Given the description of an element on the screen output the (x, y) to click on. 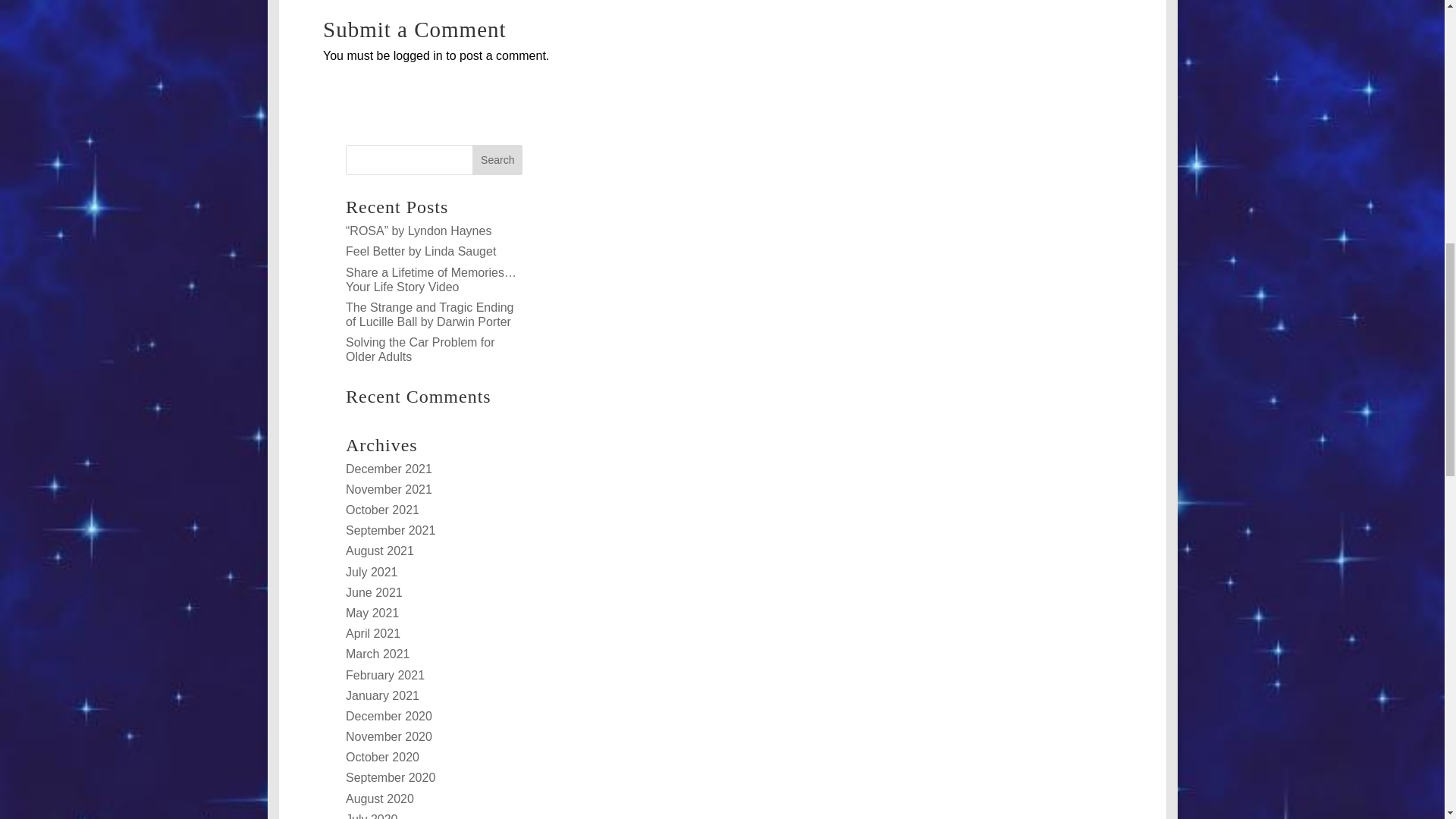
Solving the Car Problem for Older Adults (420, 349)
October 2021 (382, 509)
Search (496, 159)
Search (496, 159)
March 2021 (378, 653)
May 2021 (372, 612)
April 2021 (373, 633)
July 2021 (371, 571)
logged in (417, 55)
Feel Better by Linda Sauget (421, 250)
December 2021 (389, 468)
August 2021 (379, 550)
June 2021 (374, 592)
September 2021 (390, 530)
